Given the description of an element on the screen output the (x, y) to click on. 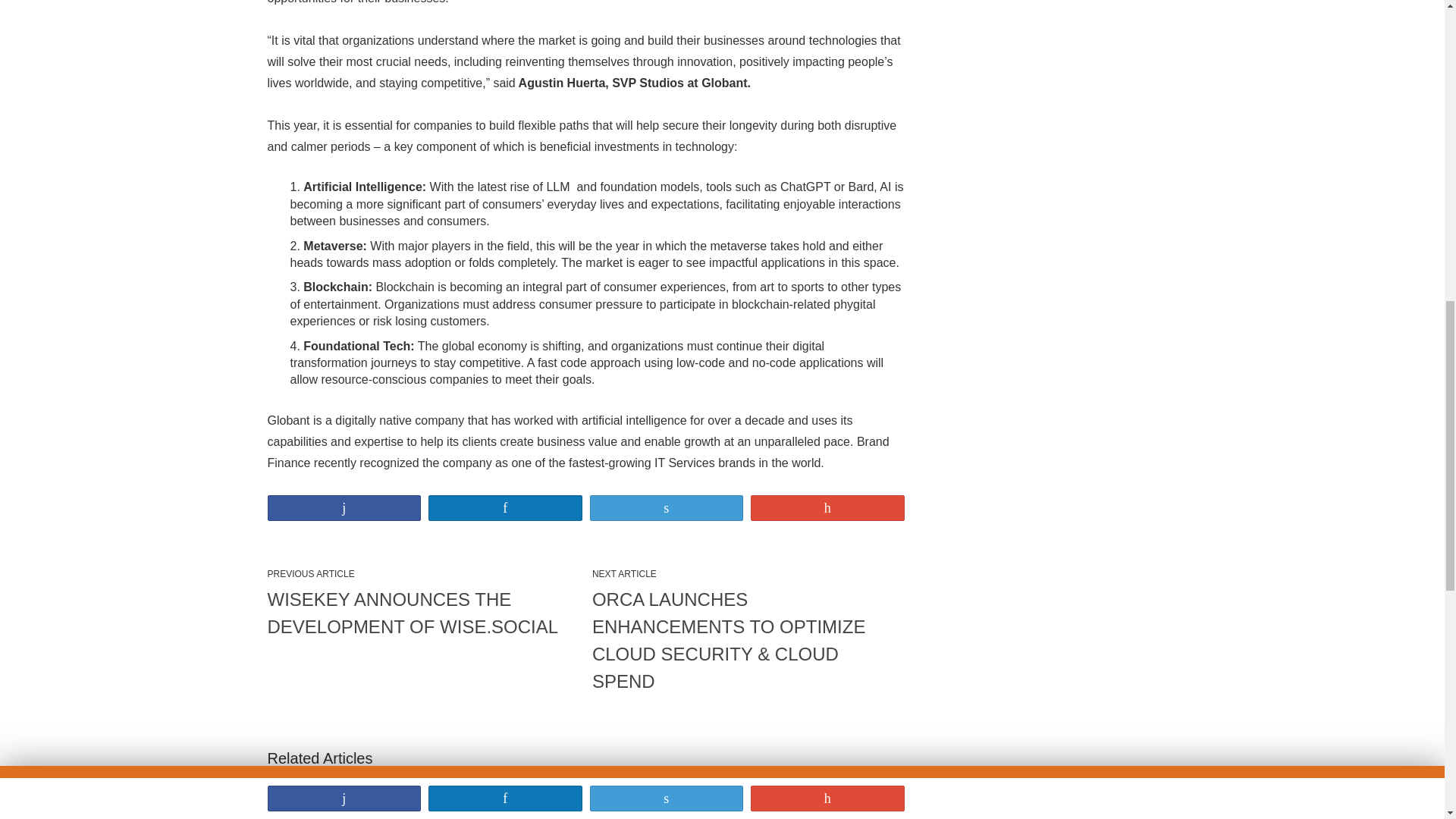
DISCO Launches Cecilia Auto Review (368, 804)
Algolia named on the Forbes 2024 Cloud 100 (584, 804)
WISEKEY ANNOUNCES THE DEVELOPMENT OF WISE.SOCIAL (422, 613)
